Given the description of an element on the screen output the (x, y) to click on. 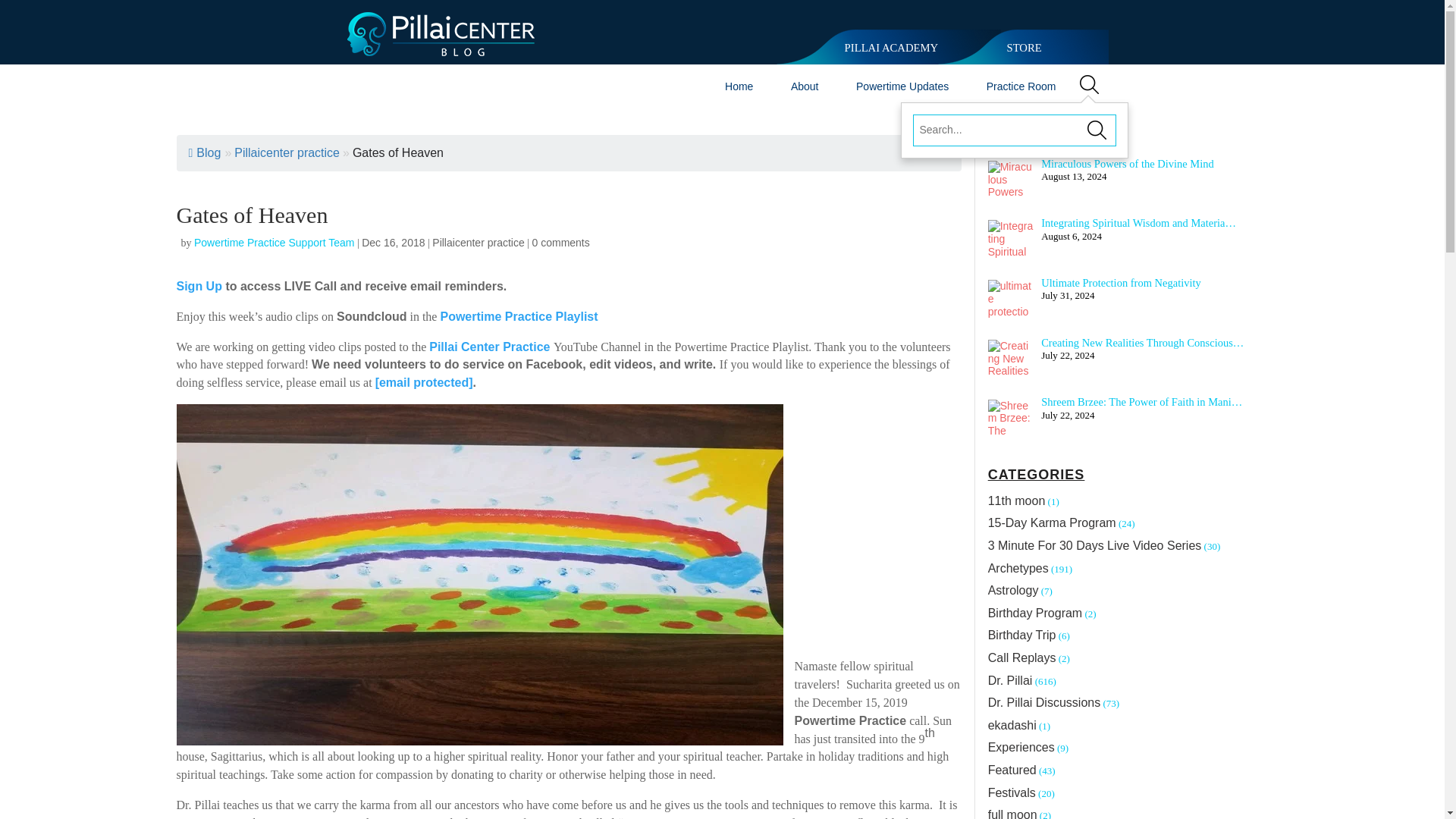
0 comments (560, 242)
Pillaicenter practice (478, 242)
Sign Up (198, 286)
Home (738, 86)
Blog (204, 152)
Practice Room (1021, 86)
Submit (1098, 129)
Practice Room (1021, 86)
Gates of Heaven (398, 152)
Powertime Practice Support Team (273, 242)
